Given the description of an element on the screen output the (x, y) to click on. 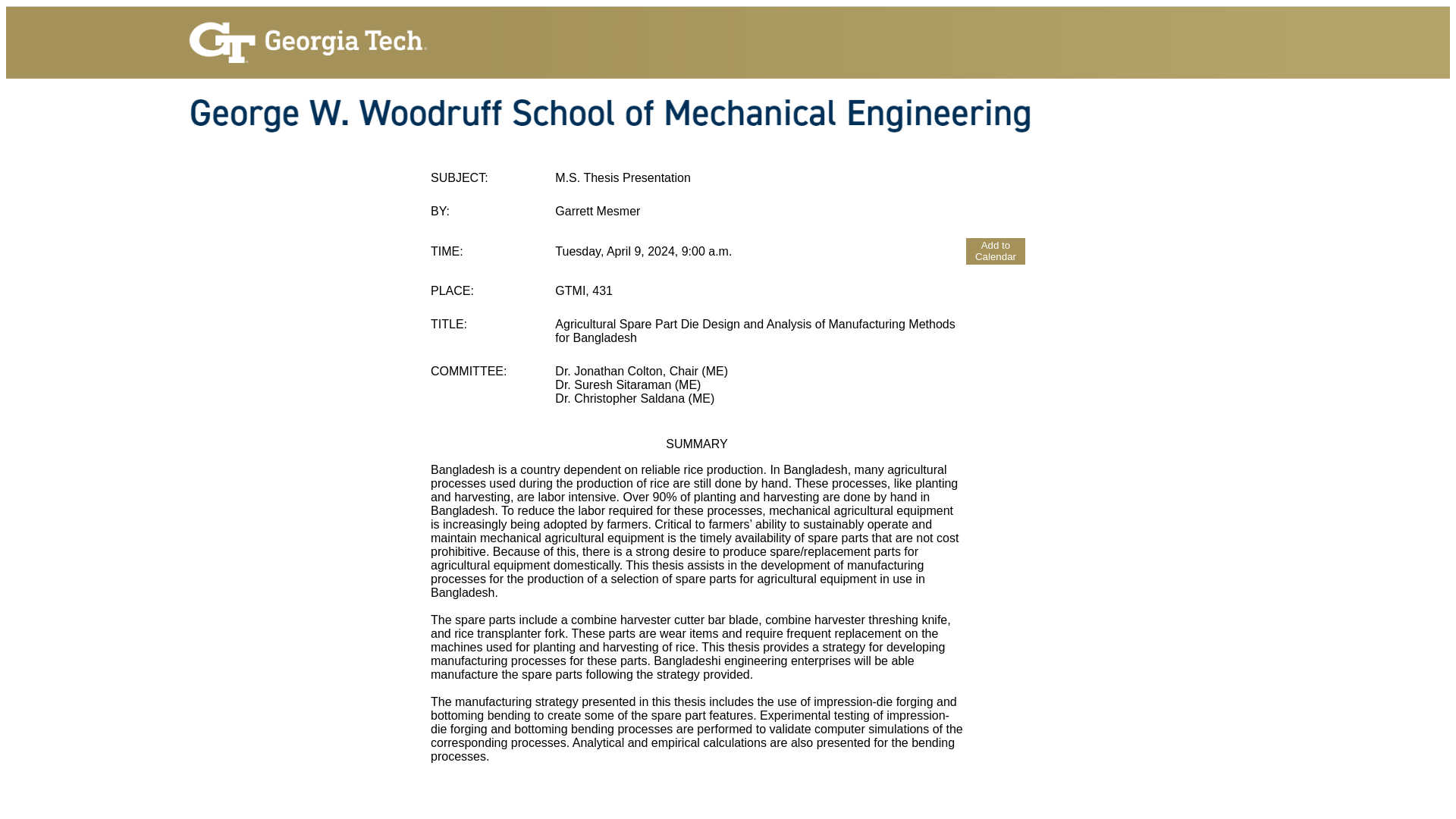
Add to Calendar (995, 251)
